Given the description of an element on the screen output the (x, y) to click on. 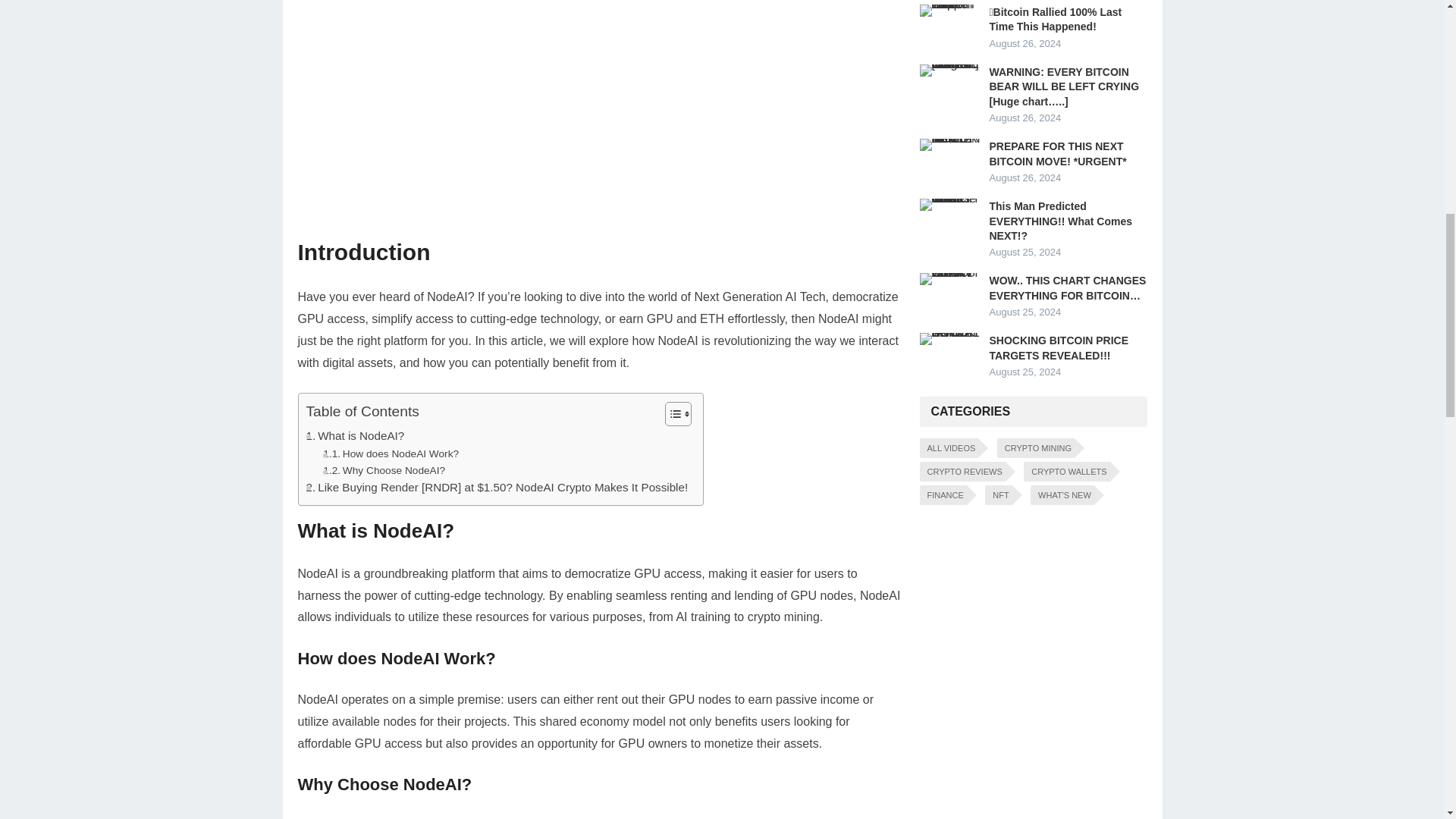
What is NodeAI? (354, 435)
Why Choose NodeAI? (384, 470)
What is NodeAI? (354, 435)
How does NodeAI Work? (390, 453)
Why Choose NodeAI? (384, 470)
How does NodeAI Work? (390, 453)
